Given the description of an element on the screen output the (x, y) to click on. 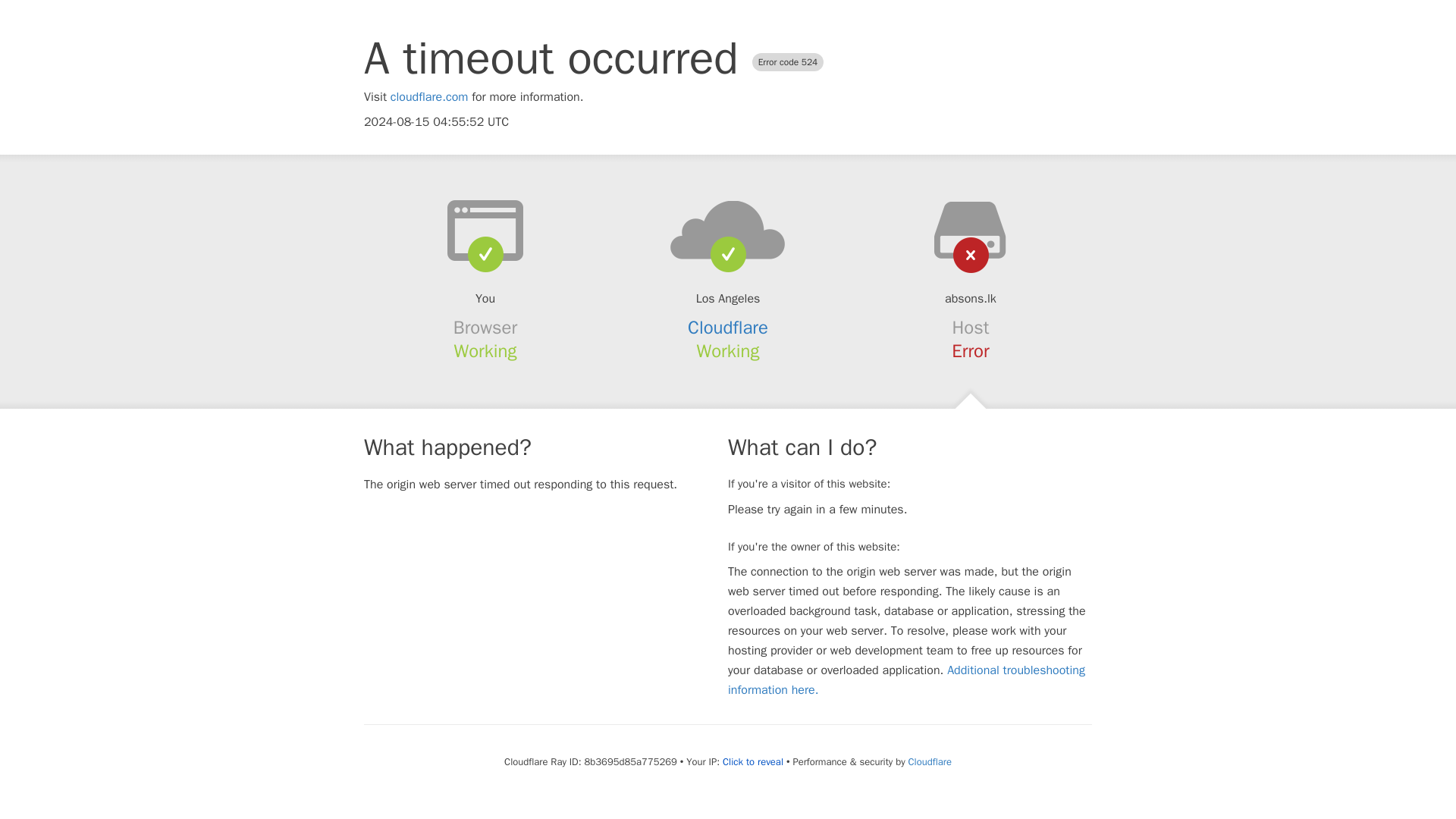
Cloudflare (930, 761)
Click to reveal (752, 762)
cloudflare.com (429, 96)
Cloudflare (727, 327)
Additional troubleshooting information here. (906, 679)
